Given the description of an element on the screen output the (x, y) to click on. 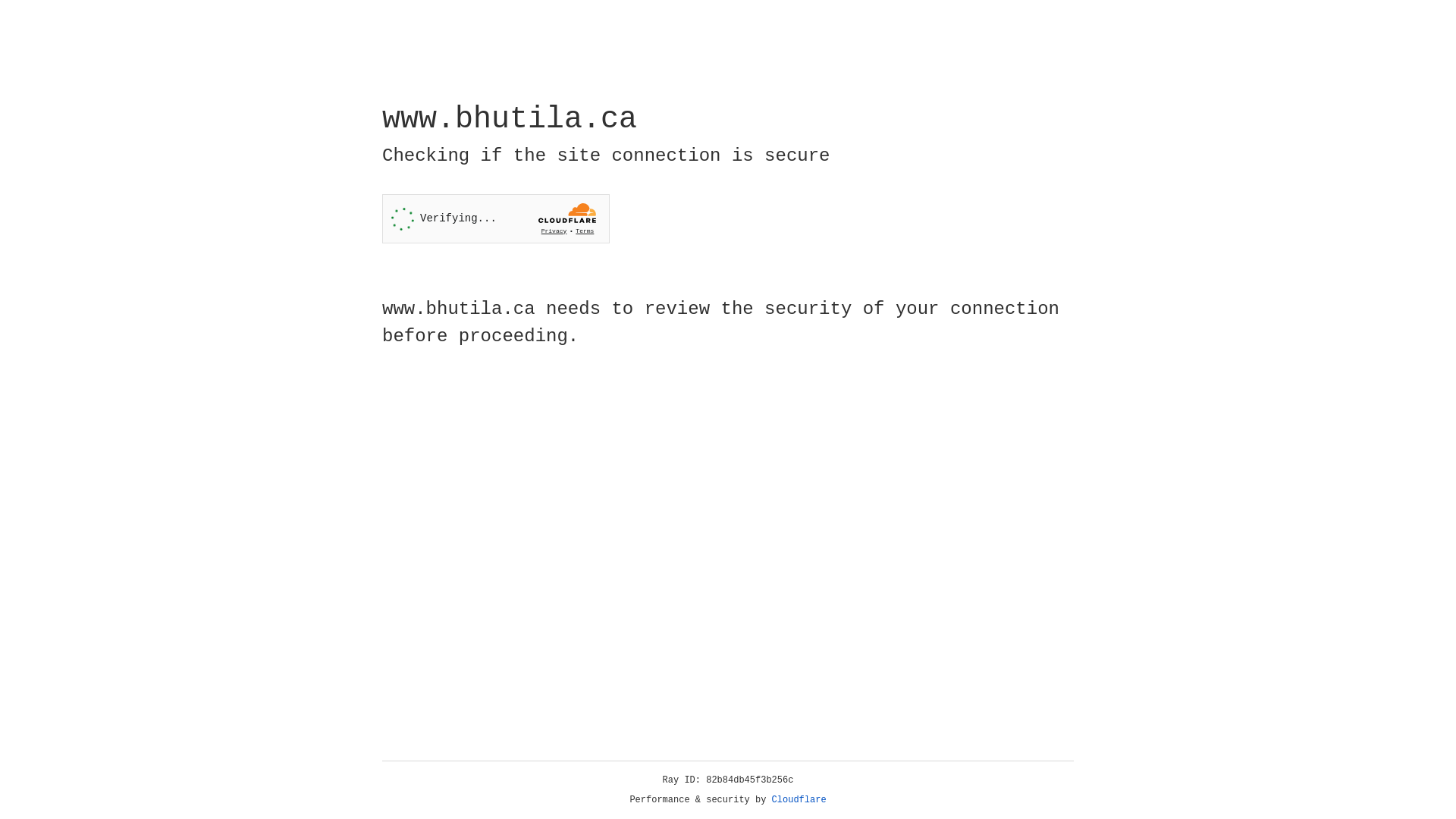
Widget containing a Cloudflare security challenge Element type: hover (495, 218)
Cloudflare Element type: text (798, 799)
